Given the description of an element on the screen output the (x, y) to click on. 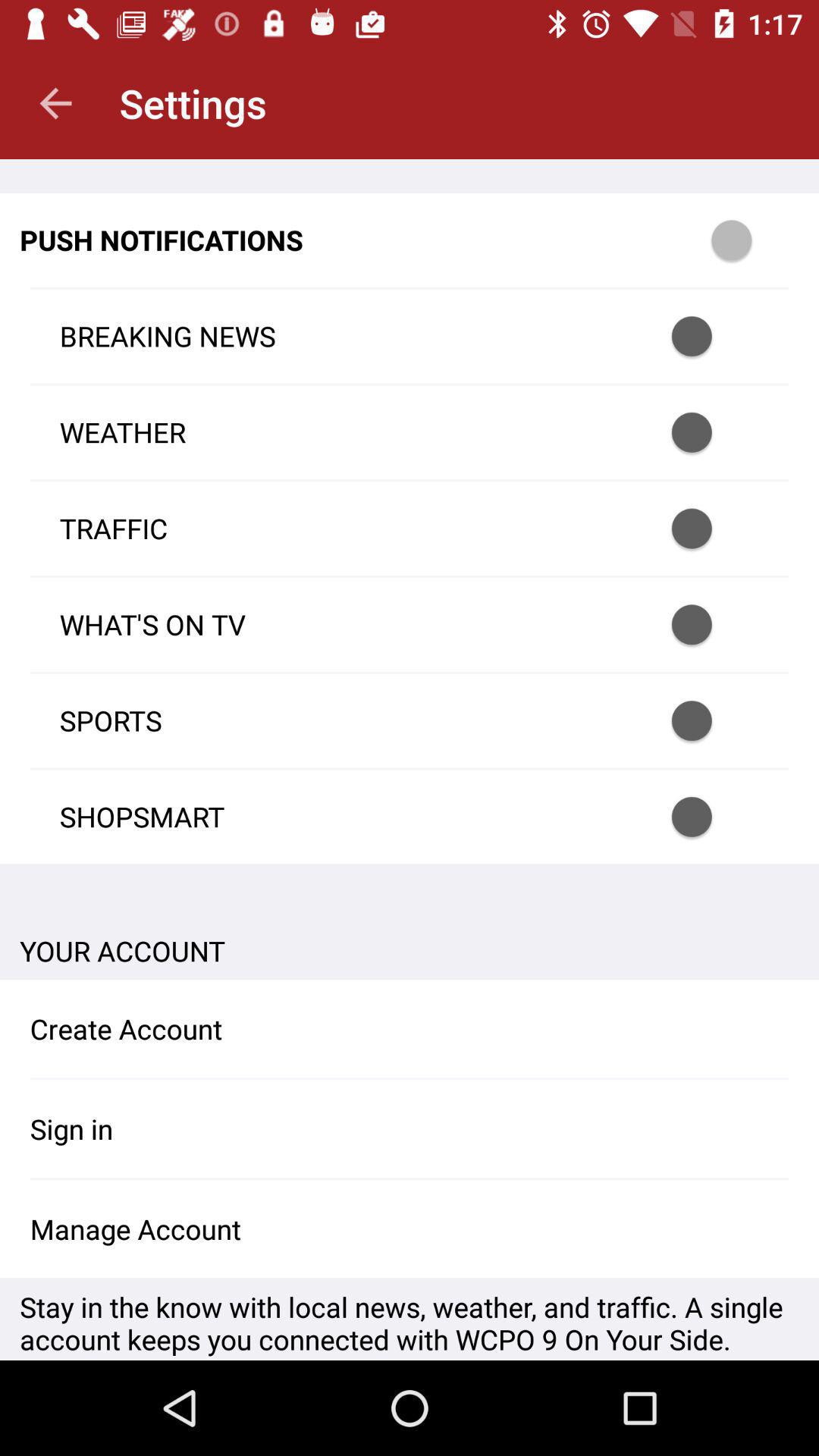
toggle sports notification (711, 720)
